Given the description of an element on the screen output the (x, y) to click on. 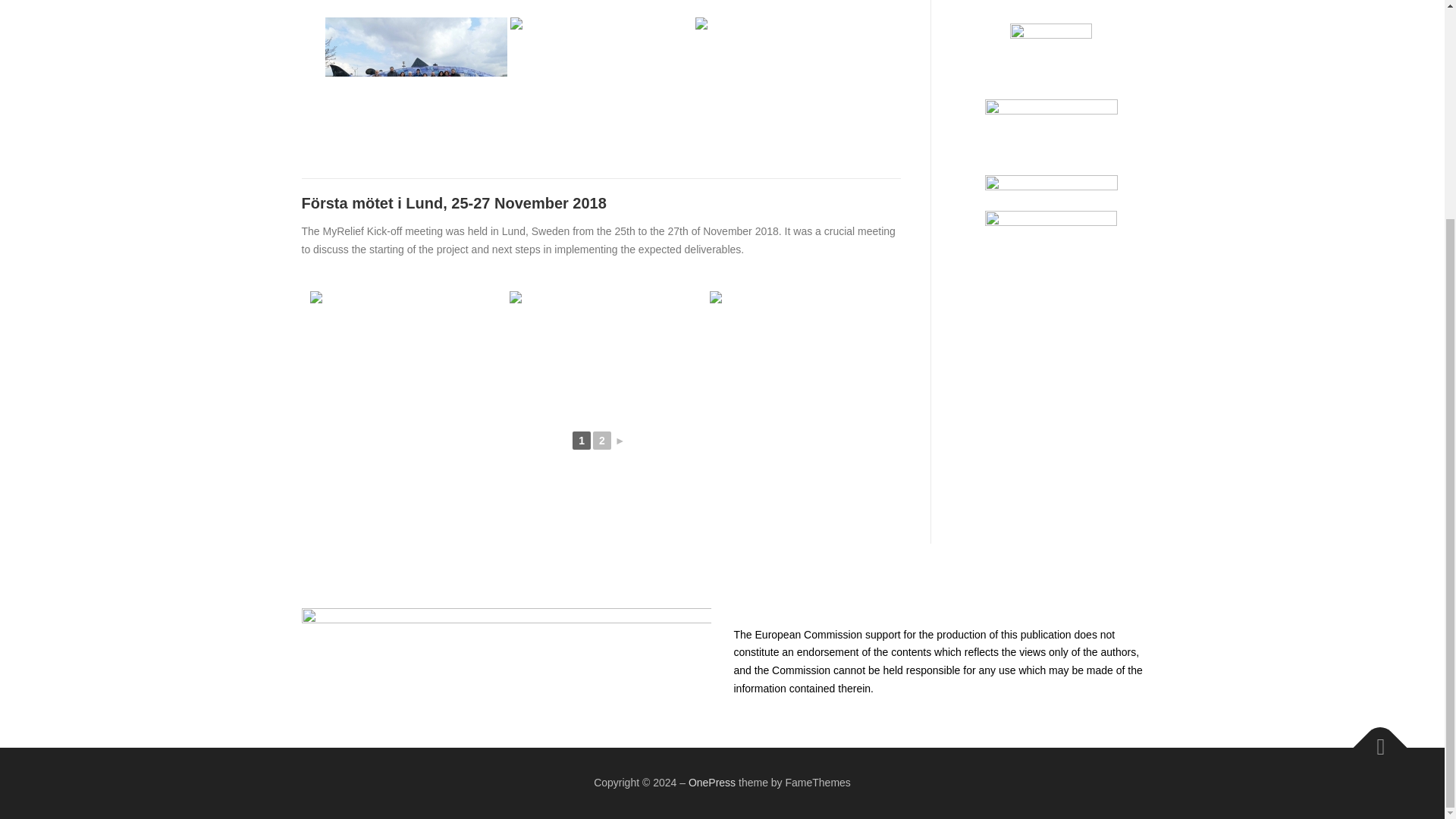
OnePress (711, 782)
Back To Top (1372, 739)
2 (601, 440)
